Given the description of an element on the screen output the (x, y) to click on. 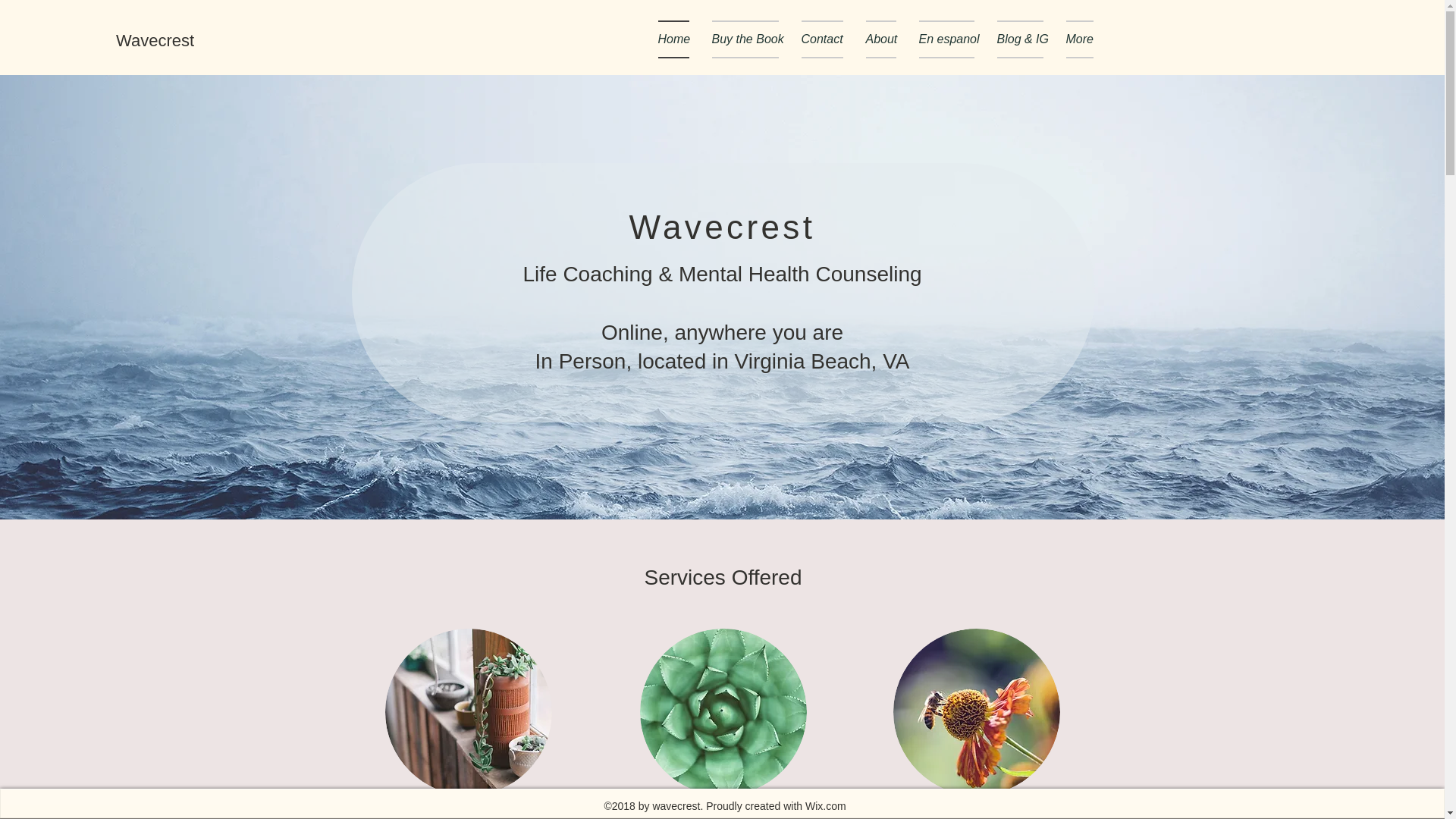
Home (679, 39)
Wavecrest (154, 40)
Buy the Book (745, 39)
